Given the description of an element on the screen output the (x, y) to click on. 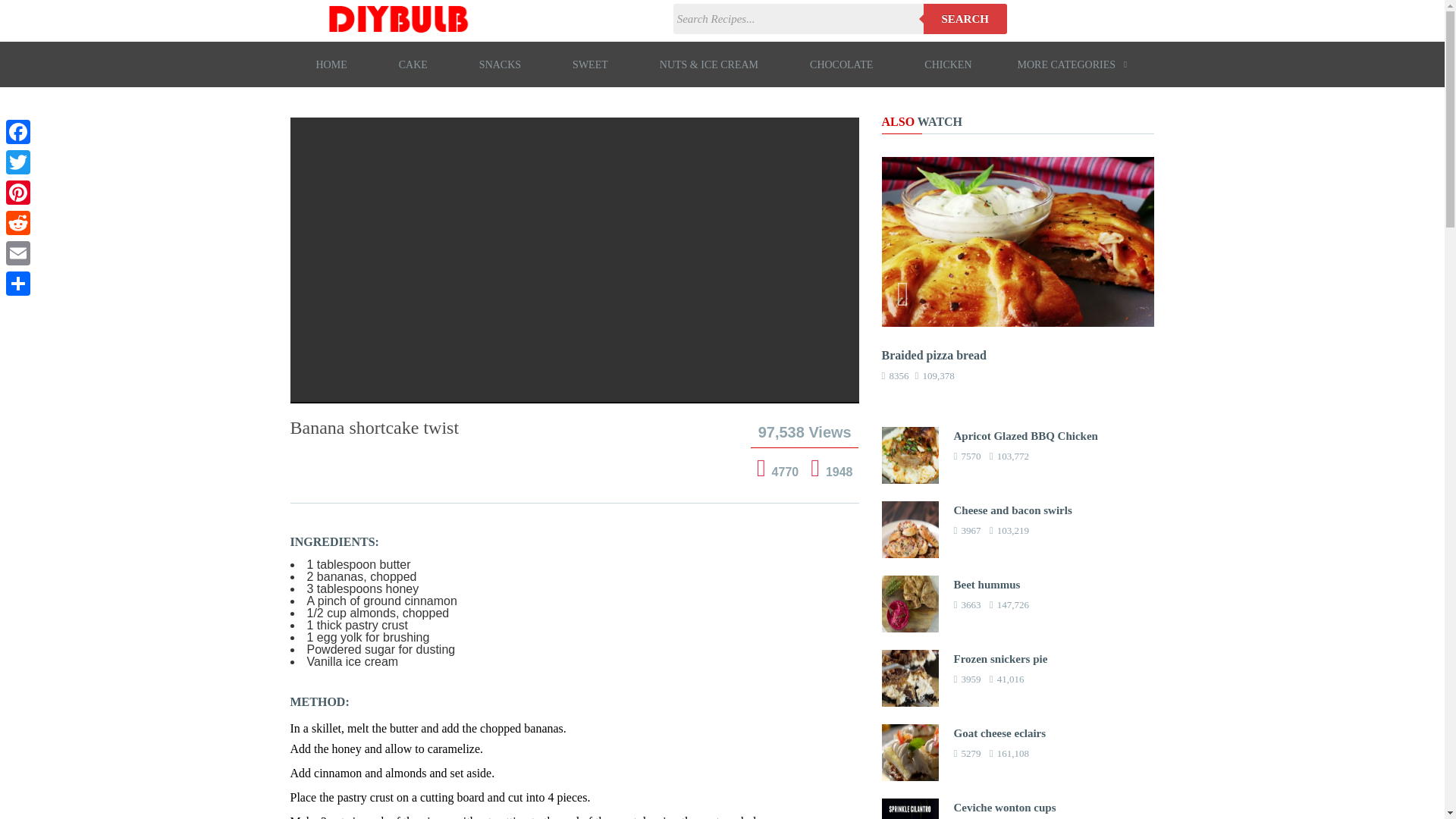
Facebook (17, 132)
Pinterest (17, 192)
SEARCH (965, 19)
SNACKS (499, 63)
HOME (330, 63)
CHICKEN (947, 63)
SWEET (590, 63)
CAKE (412, 63)
Reddit (17, 223)
Email (17, 253)
